Given the description of an element on the screen output the (x, y) to click on. 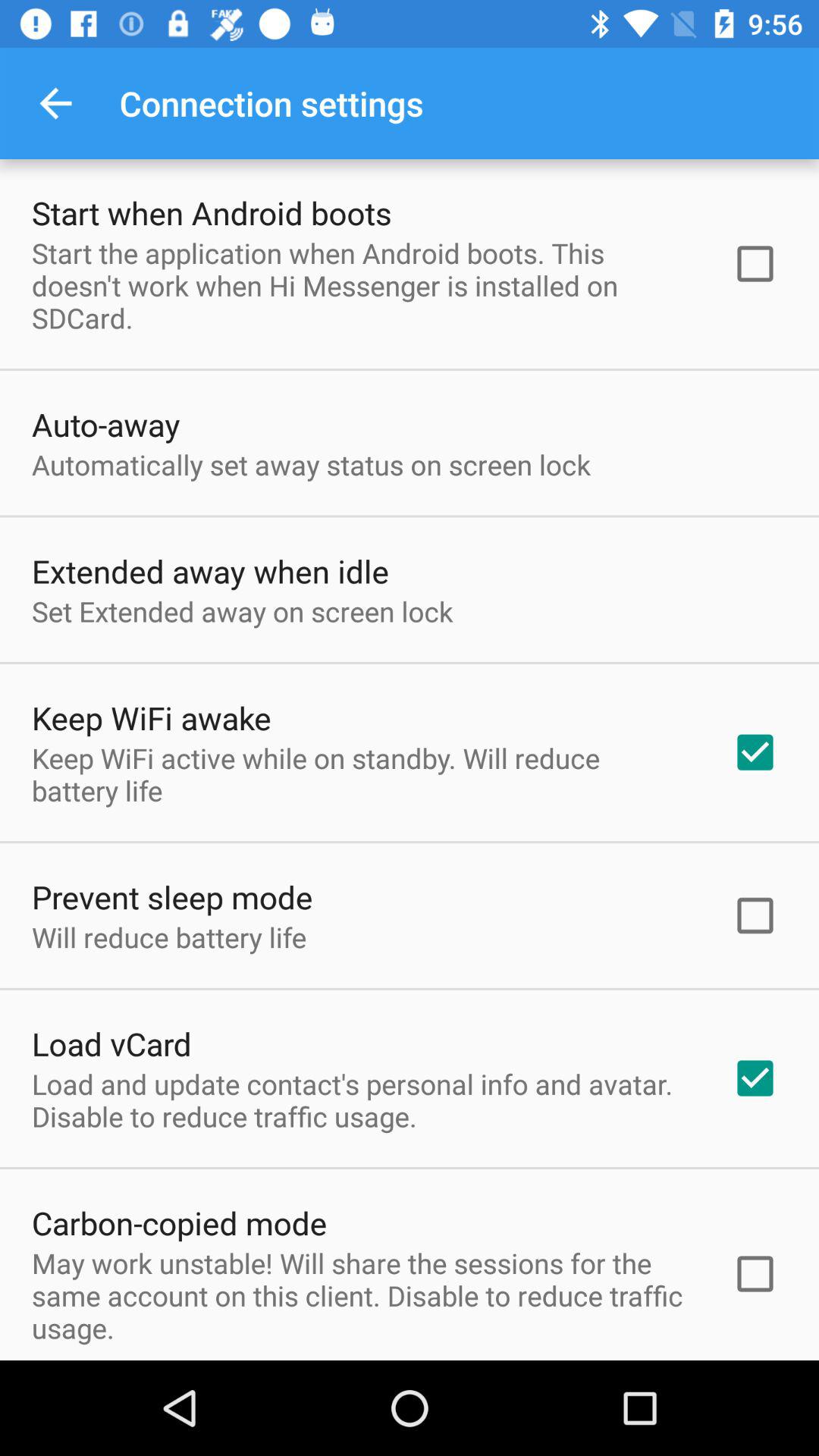
press the icon above the auto-away item (361, 285)
